Given the description of an element on the screen output the (x, y) to click on. 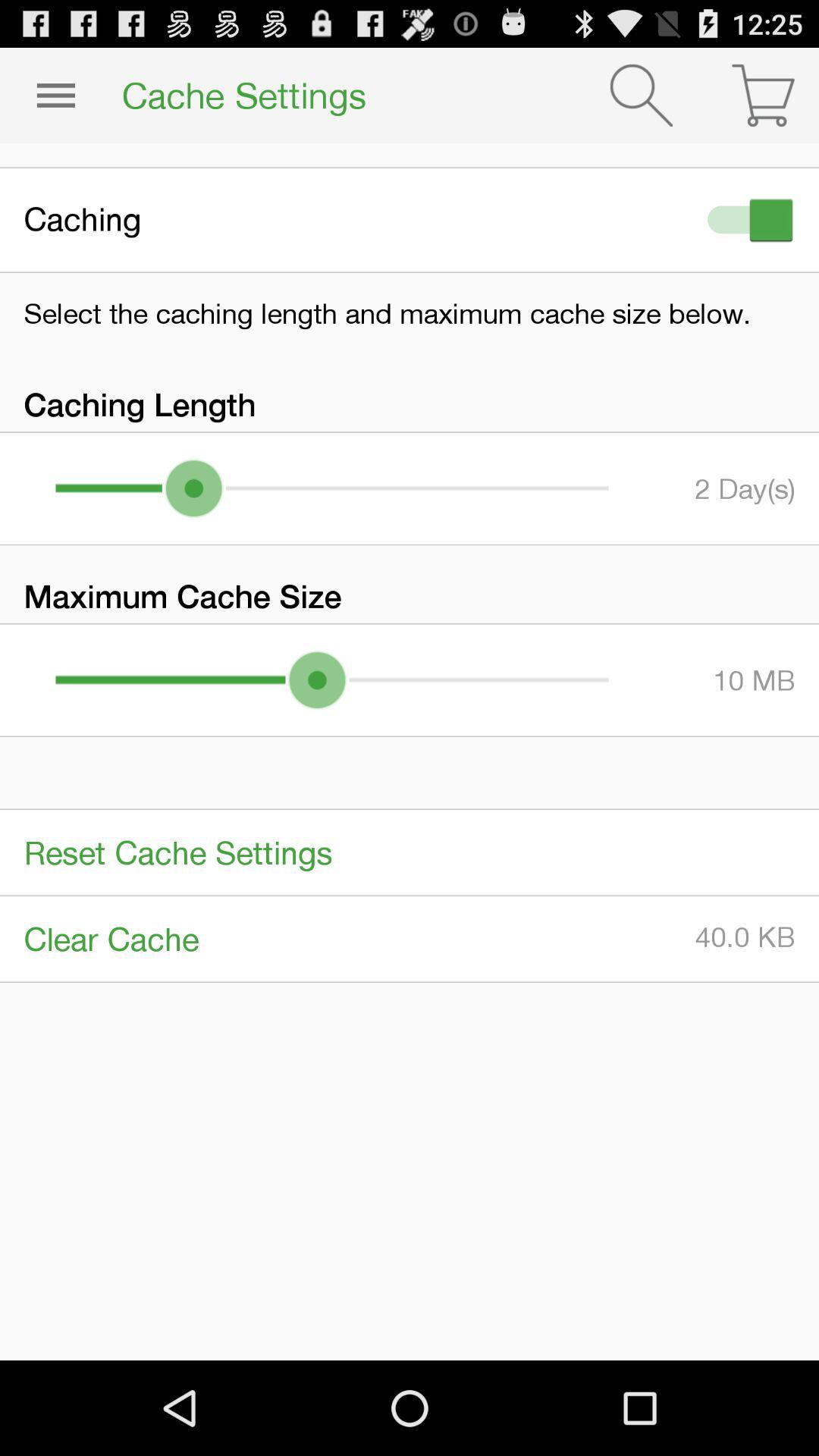
turn off icon next to the caching item (747, 219)
